Given the description of an element on the screen output the (x, y) to click on. 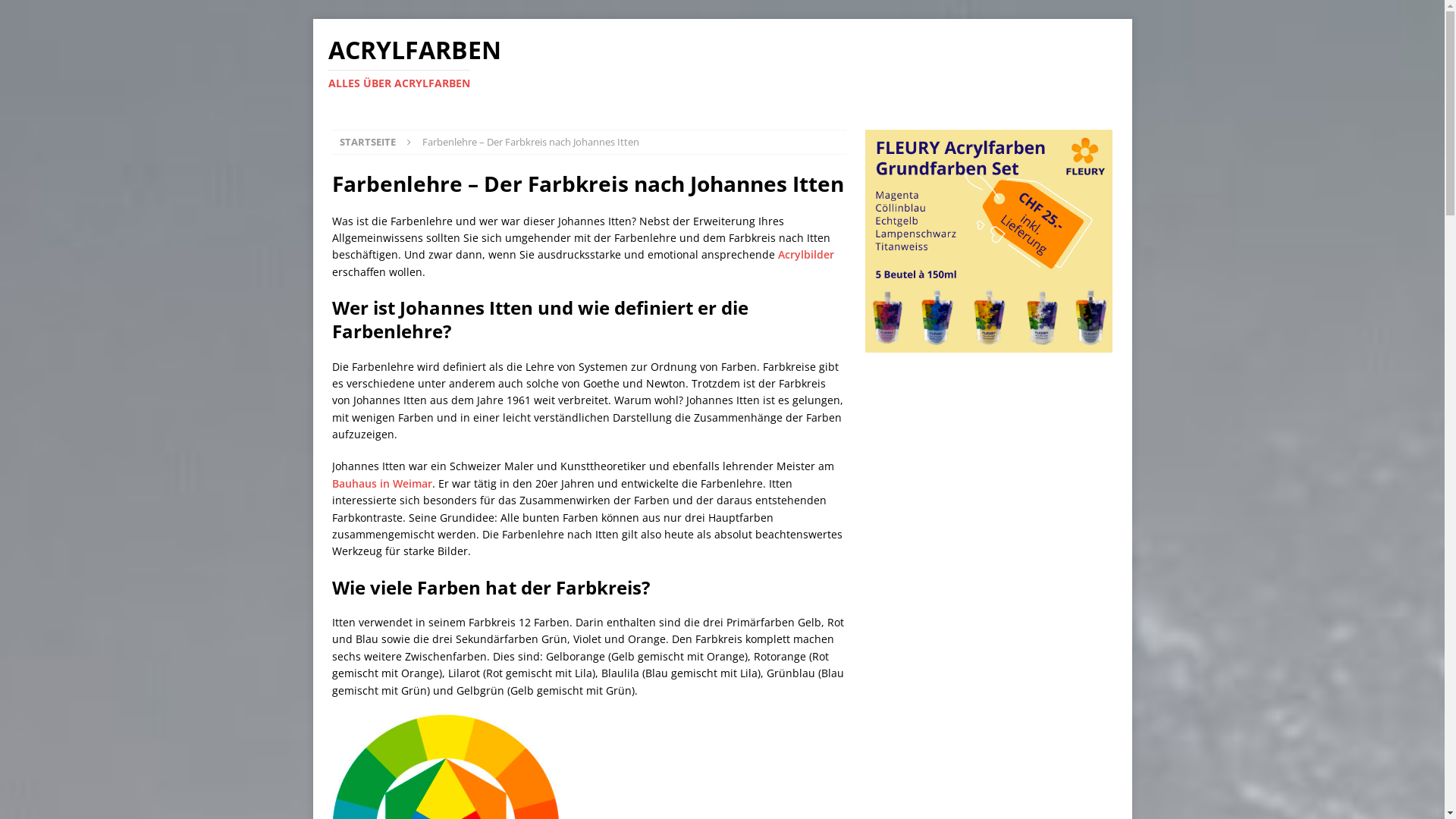
Acrylbilder Element type: text (806, 254)
STARTSEITE Element type: text (367, 141)
Bauhaus in Weimar Element type: text (382, 483)
